Given the description of an element on the screen output the (x, y) to click on. 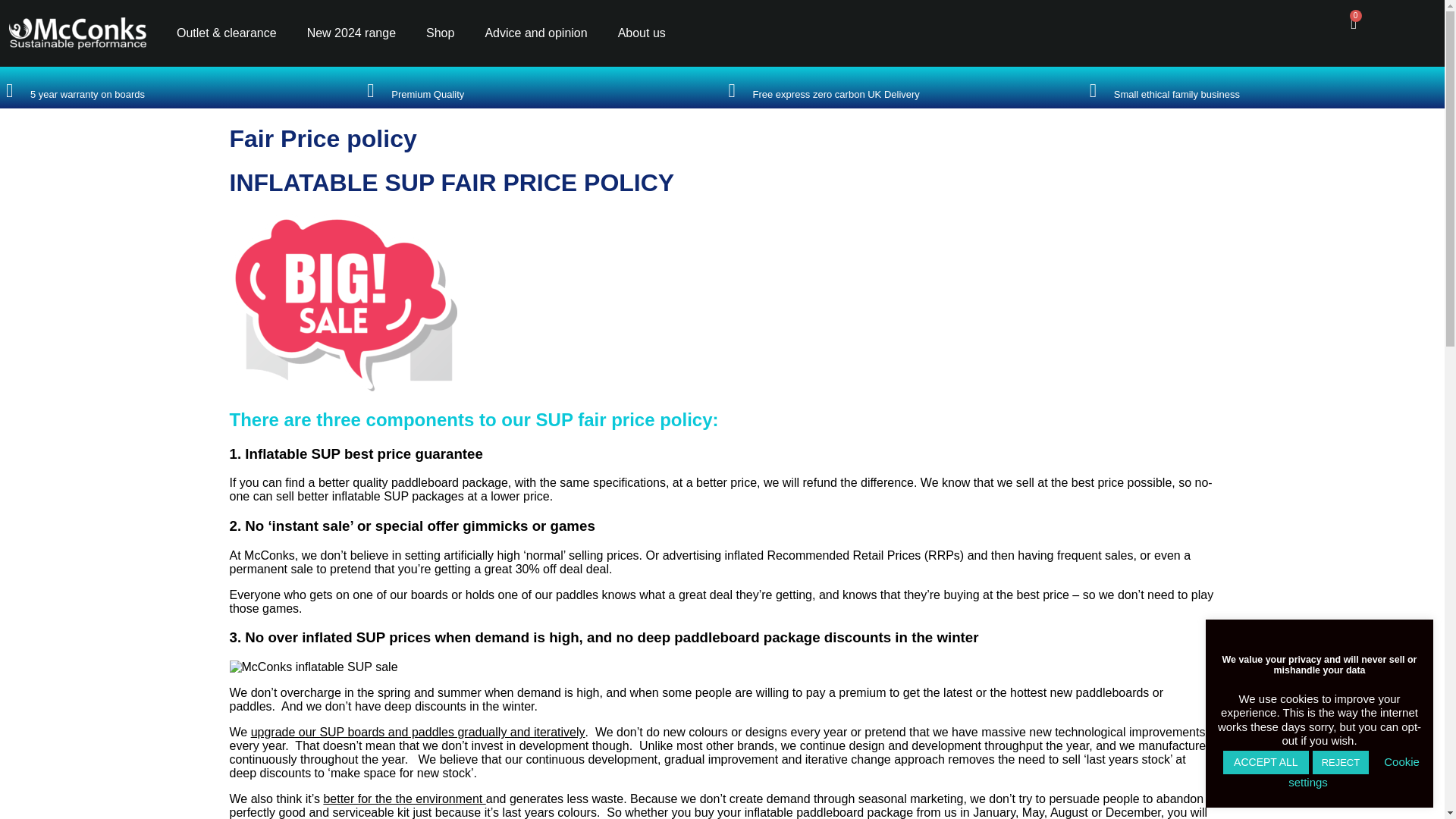
Advice and opinion (535, 32)
New 2024 range (351, 32)
Shop (439, 32)
About us (641, 32)
